Given the description of an element on the screen output the (x, y) to click on. 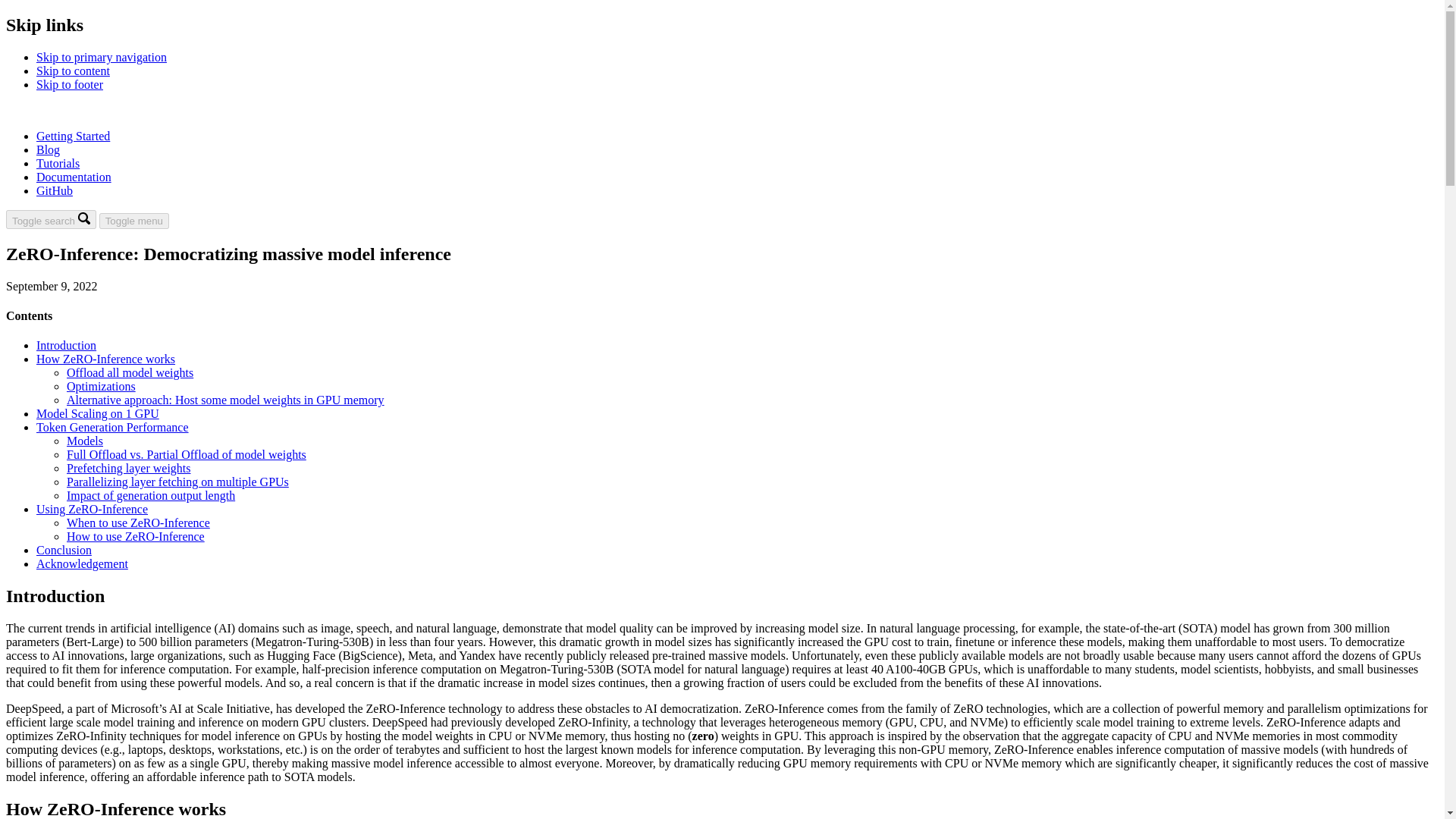
Optimizations (100, 386)
Model Scaling on 1 GPU (97, 413)
Tutorials (58, 163)
GitHub (54, 190)
Token Generation Performance (112, 427)
Prefetching layer weights (128, 468)
Parallelizing layer fetching on multiple GPUs (177, 481)
Toggle search (50, 219)
Introduction (66, 345)
How to use ZeRO-Inference (135, 535)
